Given the description of an element on the screen output the (x, y) to click on. 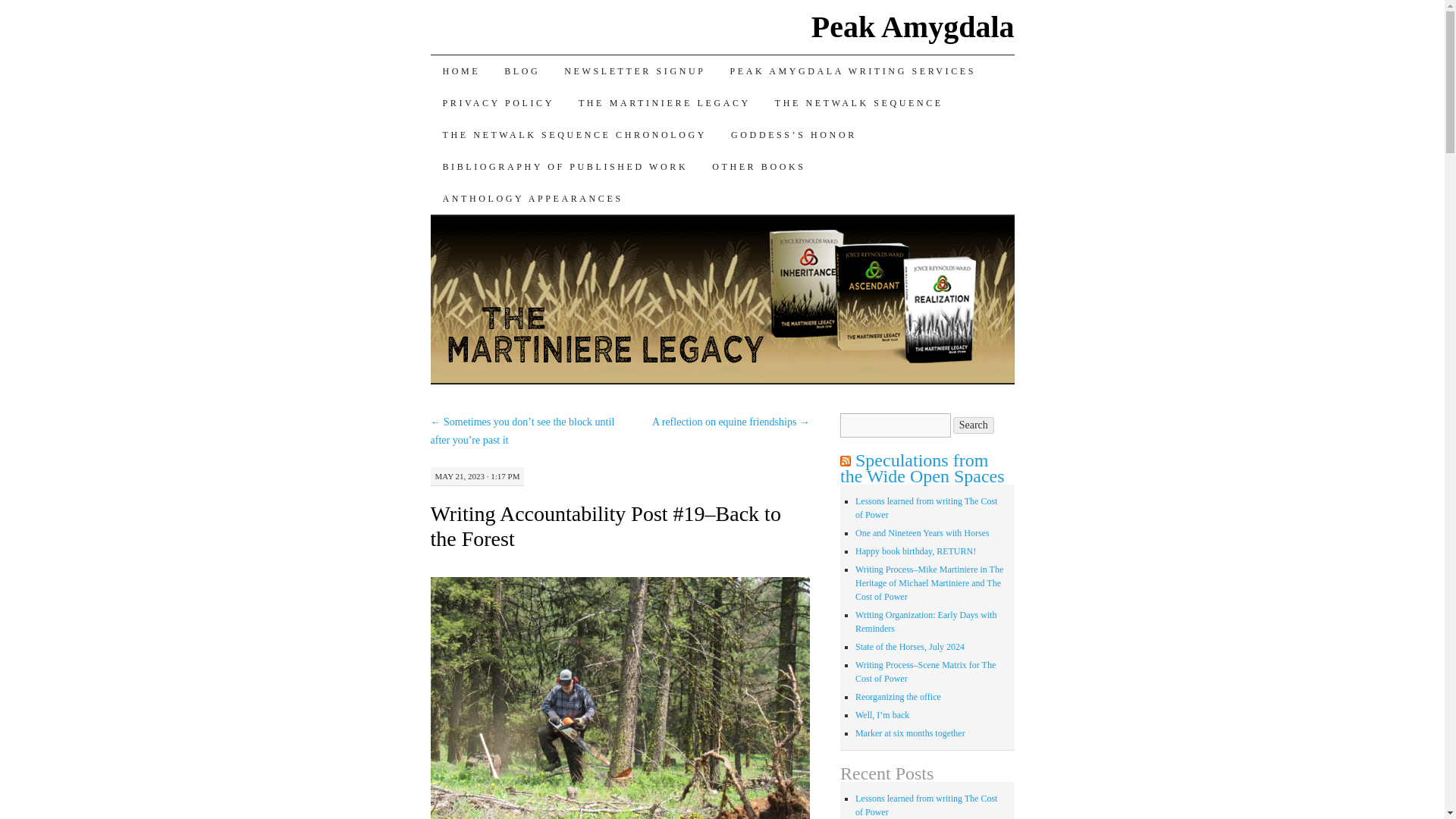
THE MARTINIERE LEGACY (664, 102)
THE NETWALK SEQUENCE CHRONOLOGY (574, 134)
PEAK AMYGDALA WRITING SERVICES (852, 70)
THE NETWALK SEQUENCE (858, 102)
Peak Amygdala (912, 26)
BLOG (521, 70)
One and Nineteen Years with Horses (923, 532)
Happy book birthday, RETURN! (915, 551)
Search (973, 425)
Marker at six months together (910, 733)
